Given the description of an element on the screen output the (x, y) to click on. 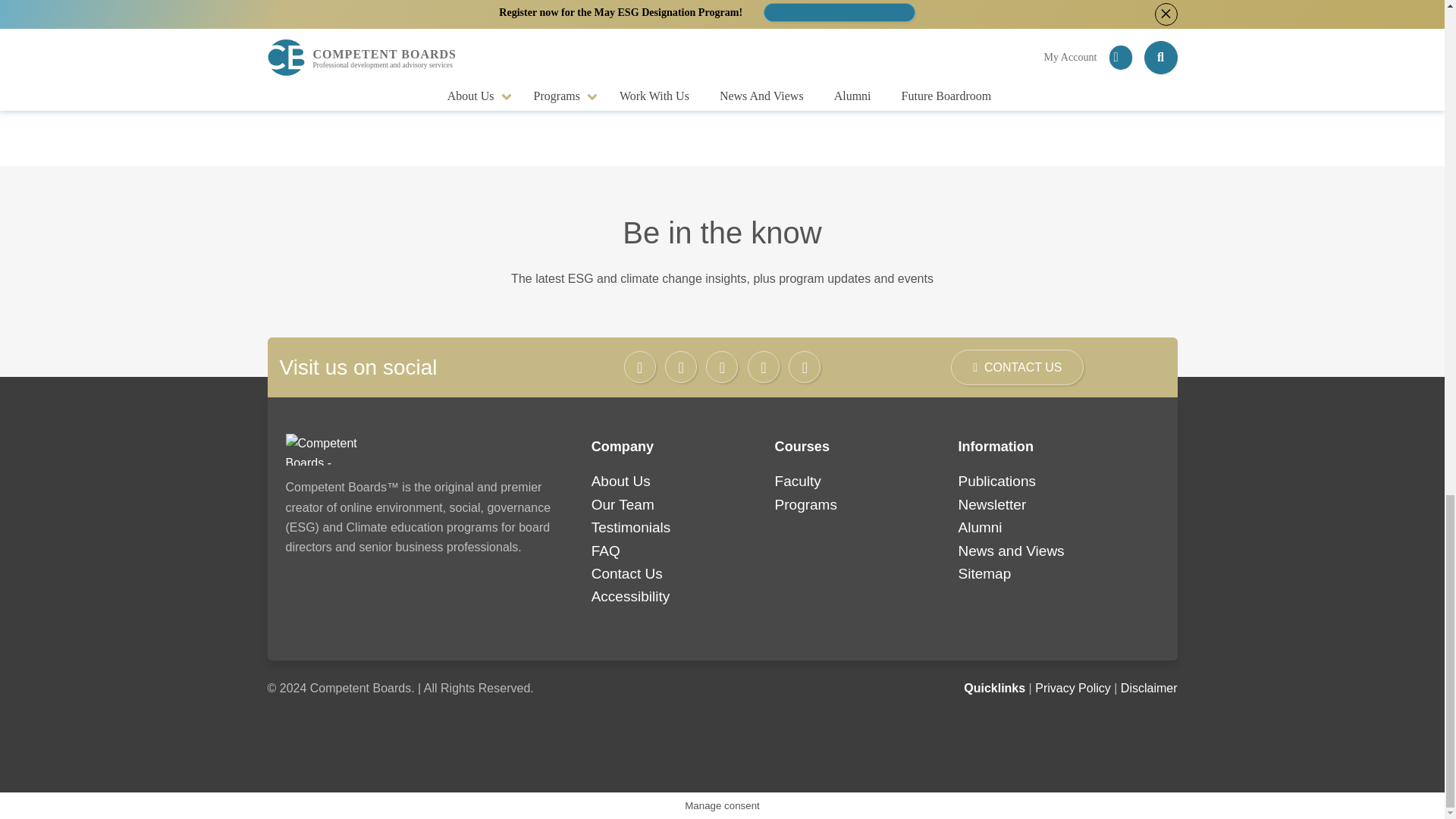
WATCH VIDEO (722, 53)
Instagram (722, 367)
Facebook (640, 367)
Twitter (681, 367)
Linkedin (763, 367)
READ THE ARTICLE (441, 53)
Youtube (805, 367)
